Given the description of an element on the screen output the (x, y) to click on. 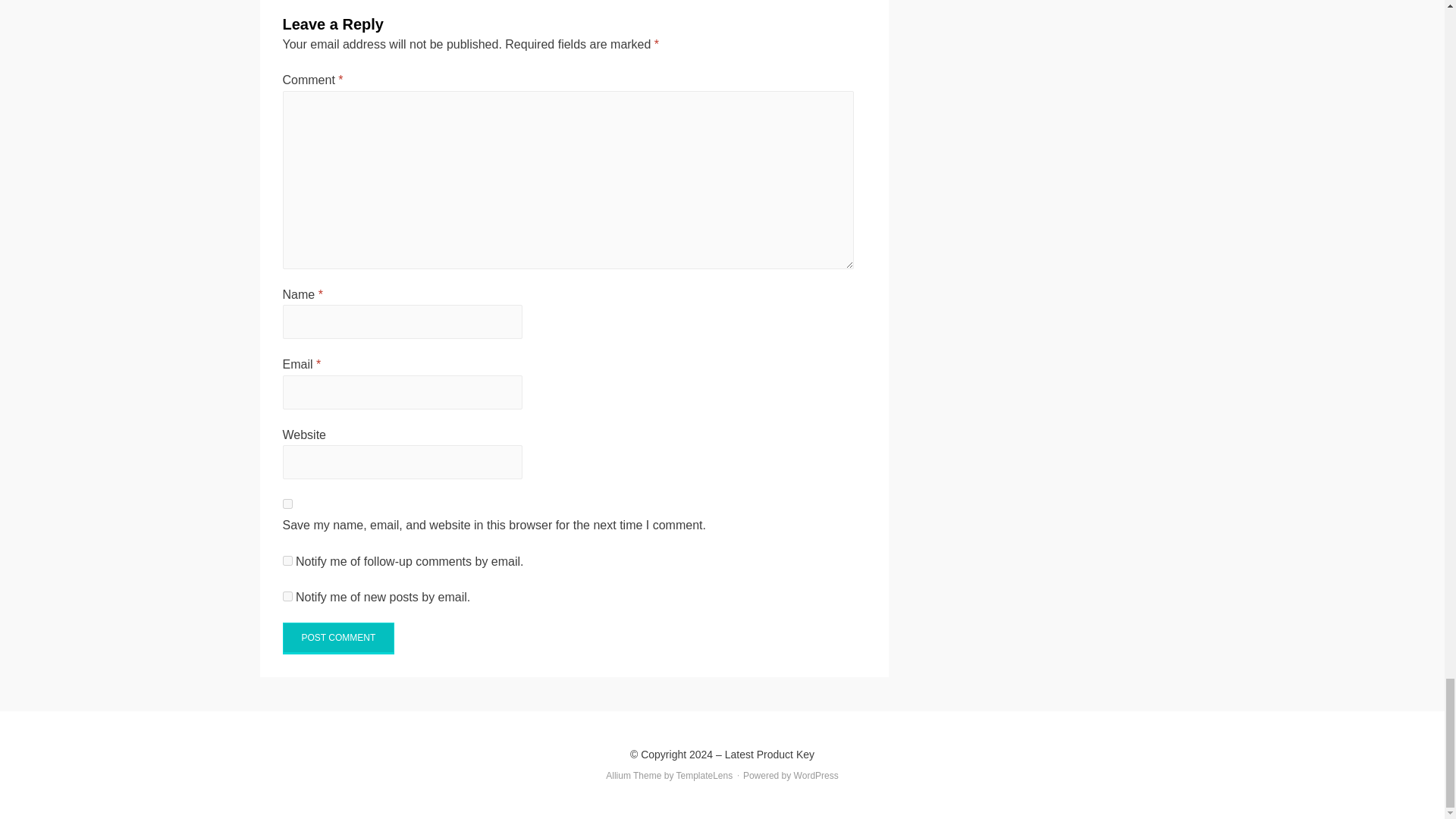
Post Comment (338, 638)
Post Comment (338, 638)
TemplateLens (705, 775)
subscribe (287, 560)
subscribe (287, 596)
yes (287, 503)
WordPress (815, 775)
